Given the description of an element on the screen output the (x, y) to click on. 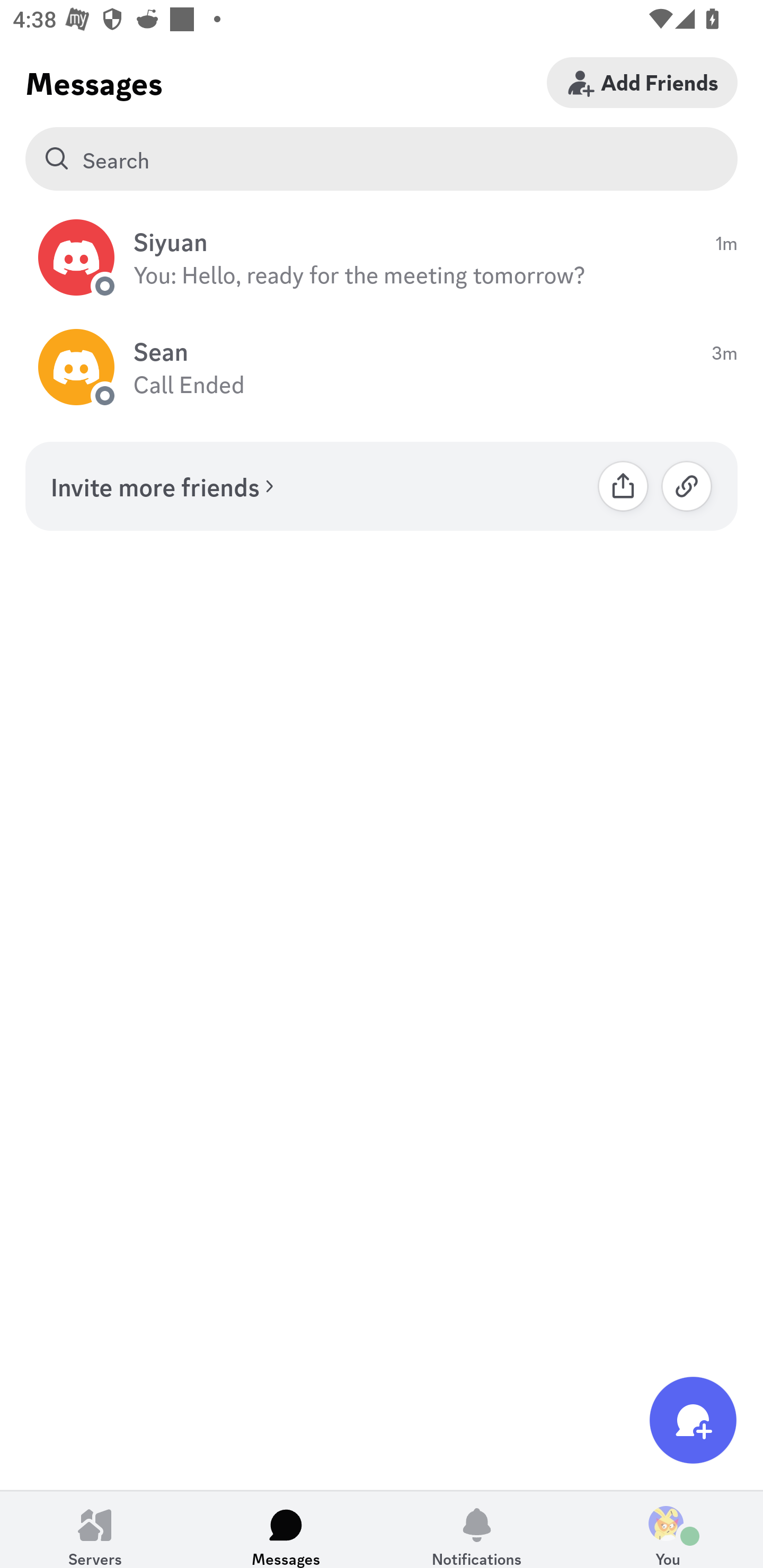
Add Friends (642, 82)
Search (381, 159)
Sean (direct message) Sean 3m Call Ended (381, 367)
Share Link (622, 485)
Copy Link (686, 485)
New Message (692, 1419)
Servers (95, 1529)
Messages (285, 1529)
Notifications (476, 1529)
You (667, 1529)
